Given the description of an element on the screen output the (x, y) to click on. 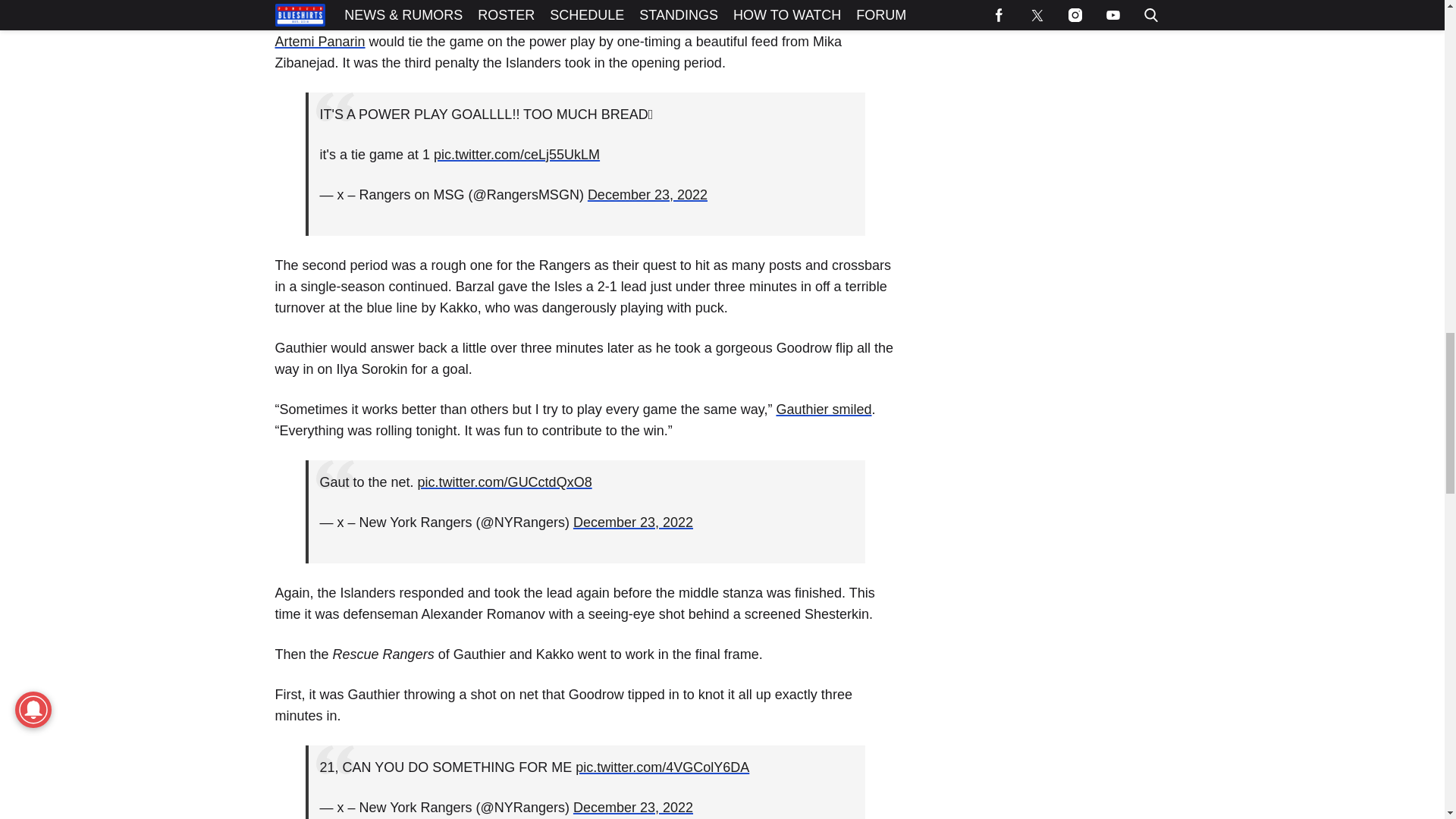
Artemi Panarin (320, 41)
December 23, 2022 (647, 194)
Gauthier smiled (823, 409)
December 23, 2022 (633, 807)
Artemi Panarin (320, 41)
December 23, 2022 (633, 522)
